Given the description of an element on the screen output the (x, y) to click on. 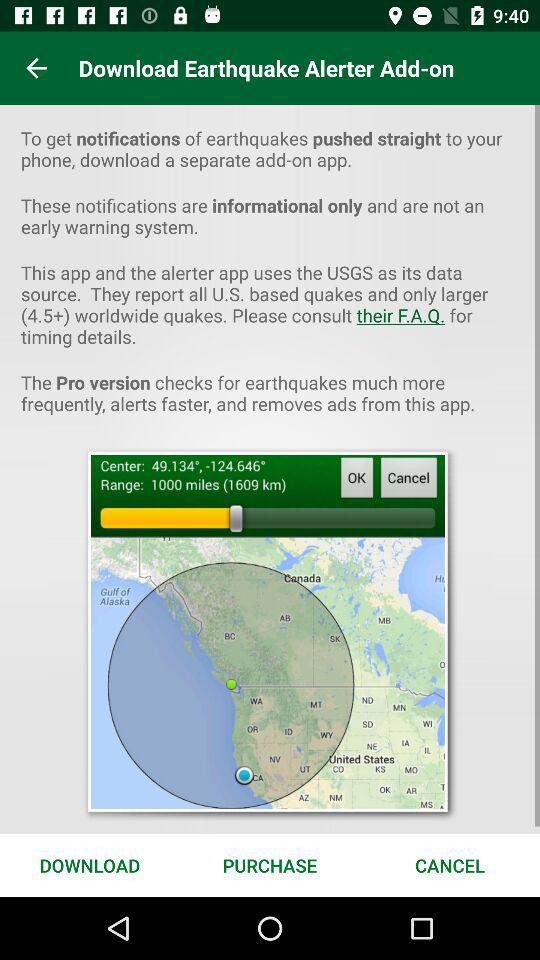
select the icon to the right of download icon (270, 864)
